Given the description of an element on the screen output the (x, y) to click on. 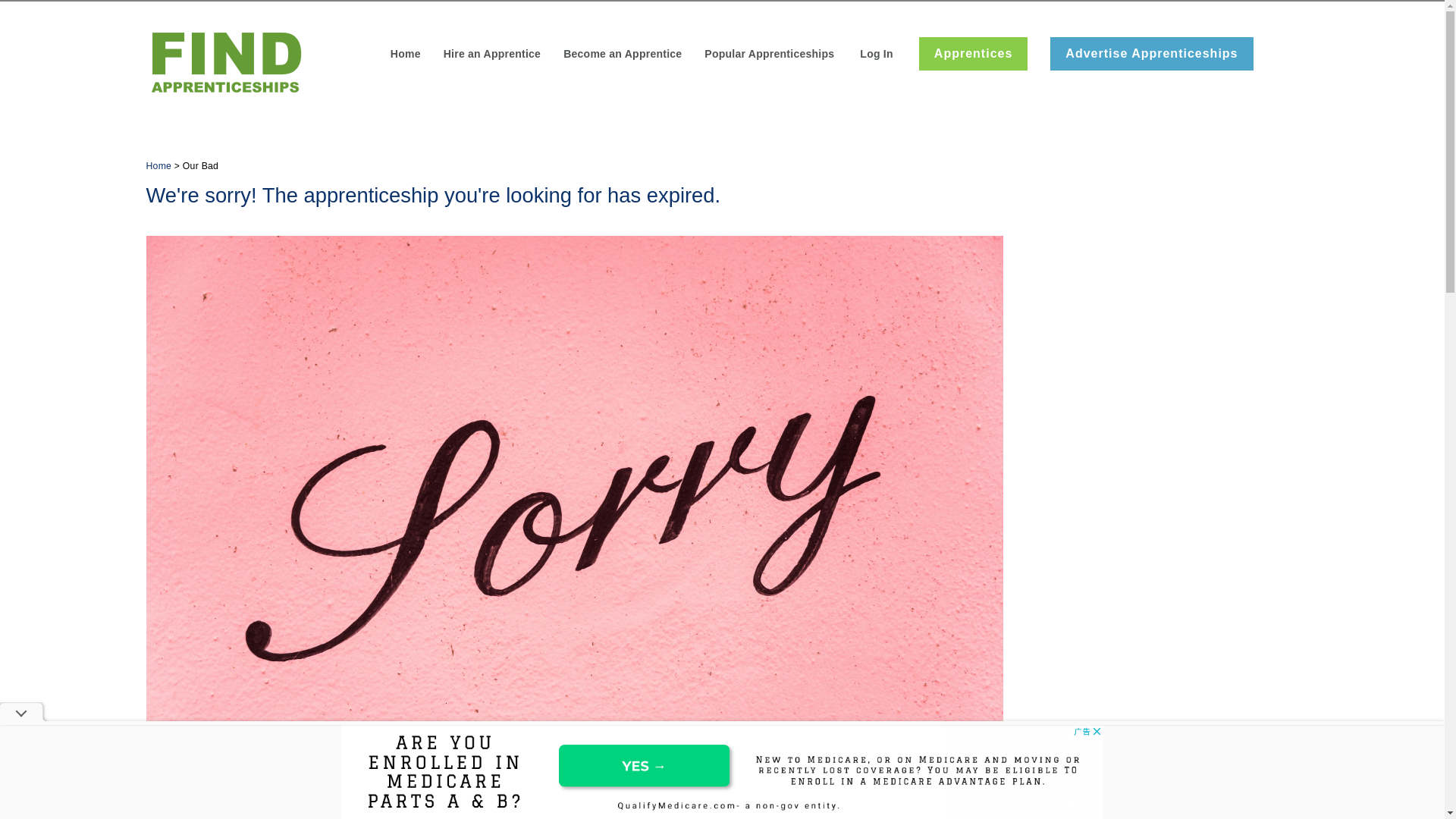
Hire an Apprentice (492, 54)
Find Apprenticeships (224, 61)
Become an Apprentice (622, 54)
Home (405, 54)
Advertise Apprenticeships (1150, 53)
